Given the description of an element on the screen output the (x, y) to click on. 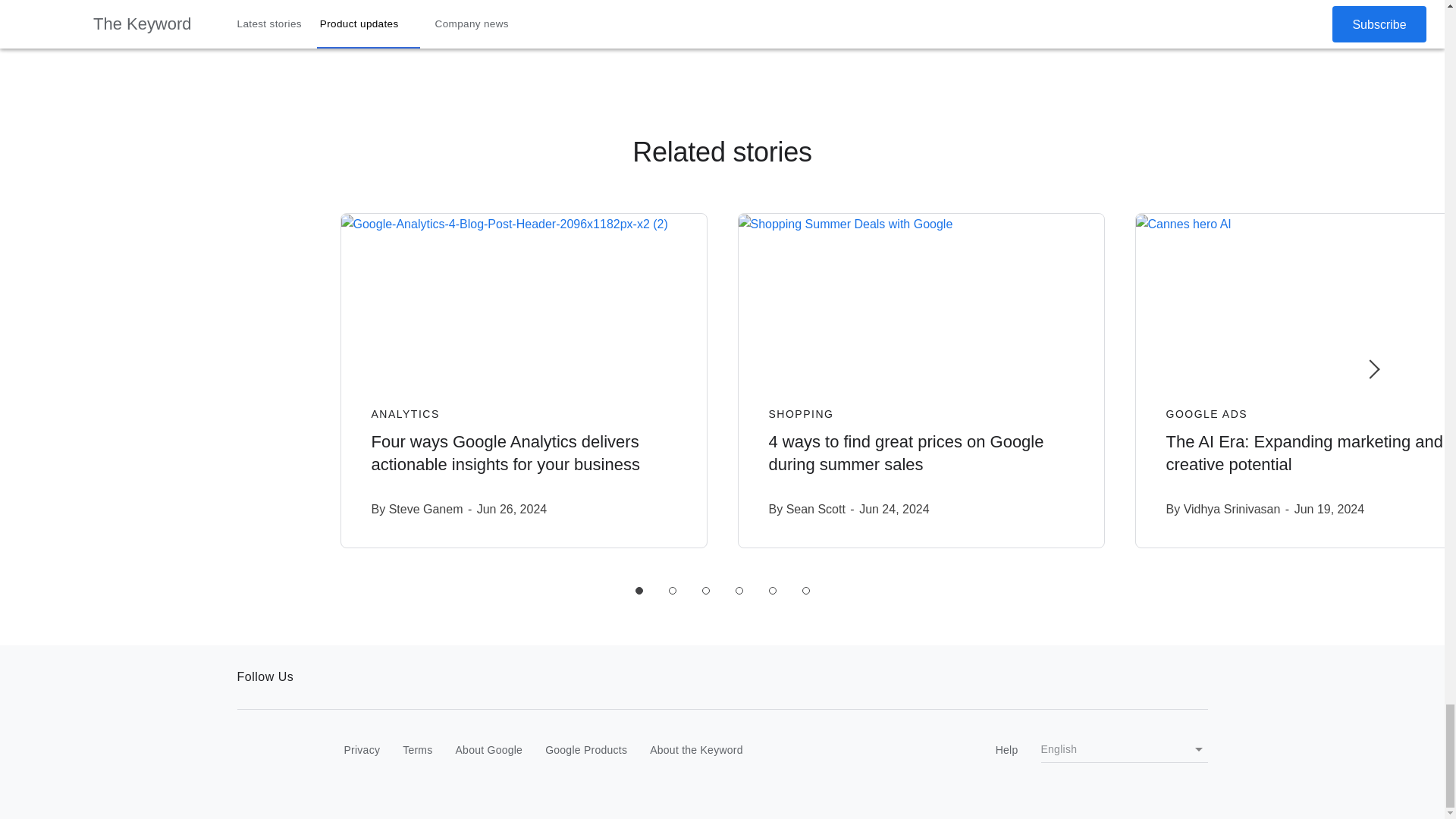
Google (268, 750)
